Given the description of an element on the screen output the (x, y) to click on. 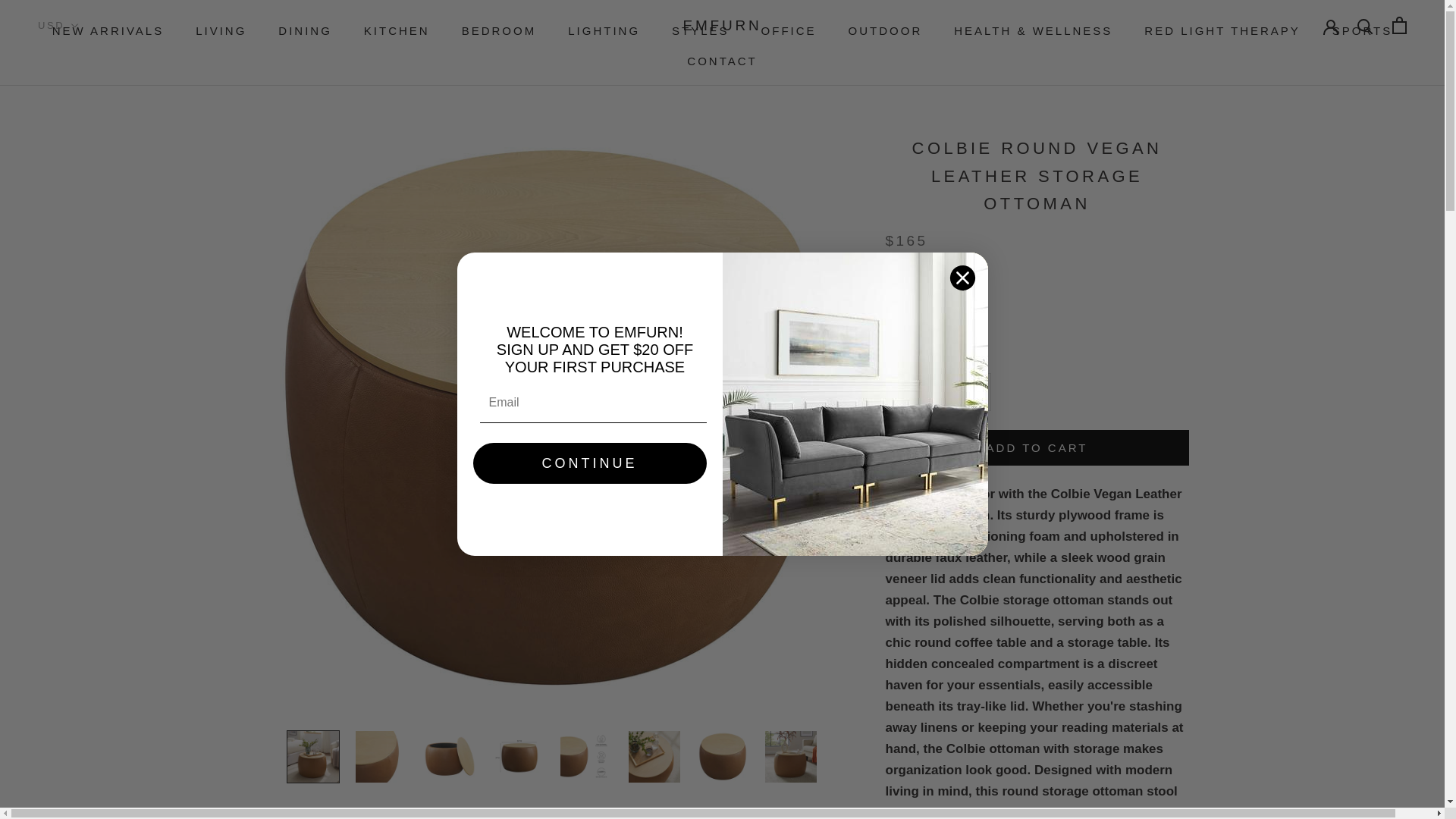
1 (938, 391)
Currency selector (58, 25)
